Given the description of an element on the screen output the (x, y) to click on. 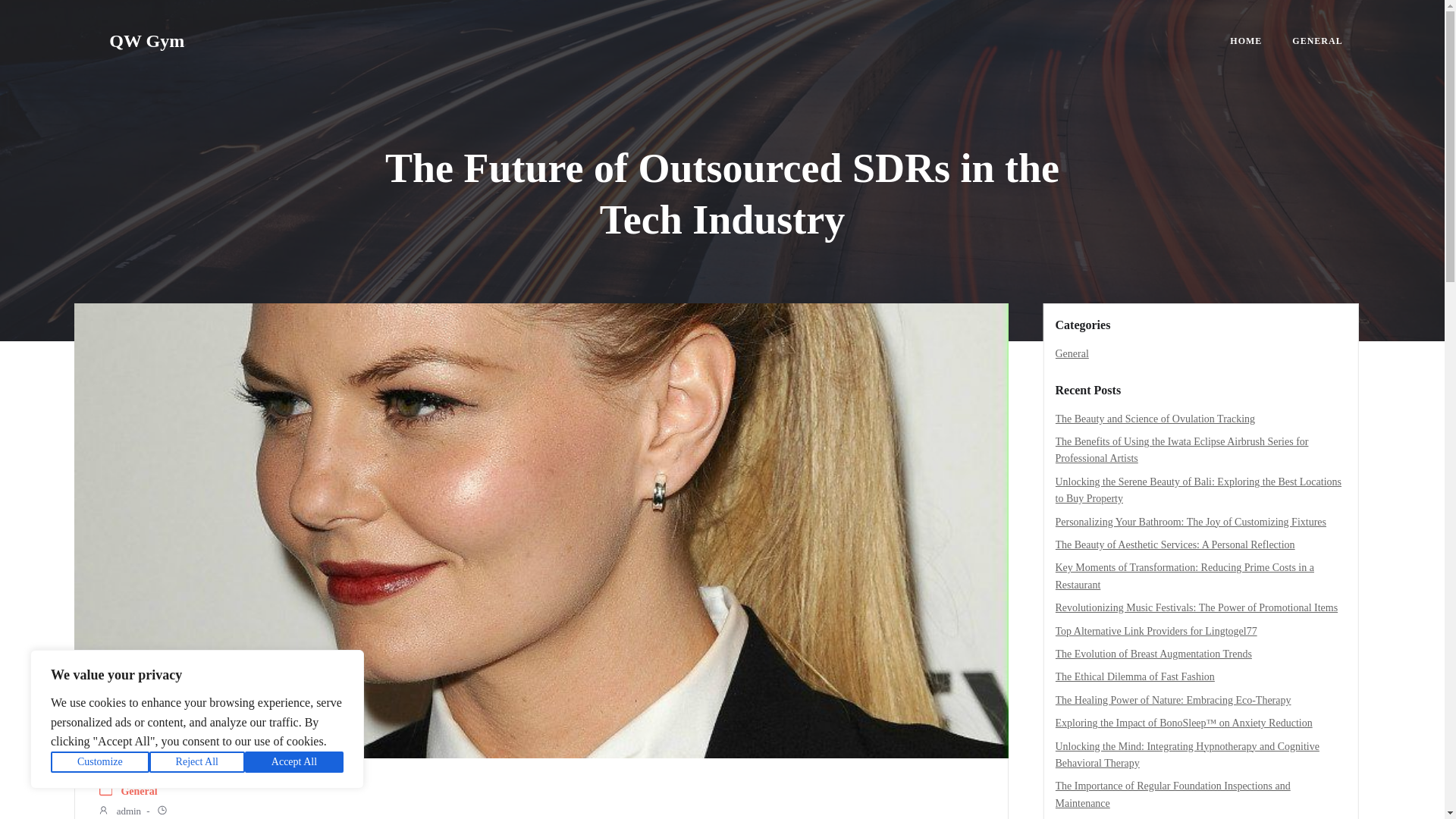
Reject All (196, 762)
General (1072, 353)
Customize (99, 762)
Accept All (293, 762)
The Beauty and Science of Ovulation Tracking (1155, 419)
HOME (1246, 40)
admin (119, 811)
GENERAL (1317, 40)
QW Gym (146, 40)
General (138, 791)
